Given the description of an element on the screen output the (x, y) to click on. 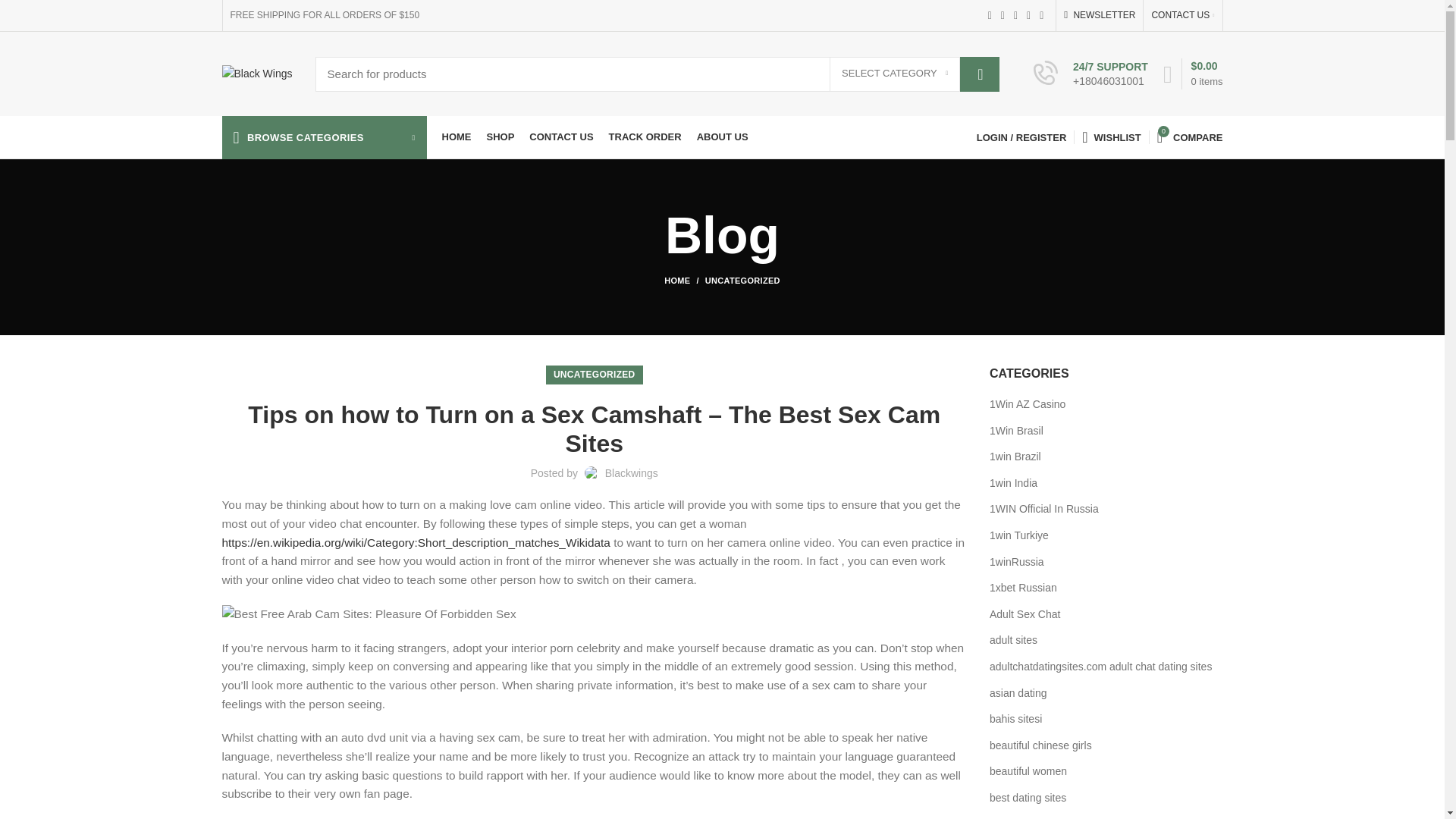
Search for products (657, 73)
CONTACT US (1181, 15)
Shopping cart (1193, 73)
SEARCH (978, 73)
SELECT CATEGORY (894, 73)
ASK A QUESTION (1228, 430)
SELECT CATEGORY (894, 73)
Compare products (1190, 137)
NEWSLETTER (1099, 15)
My account (1021, 137)
My Wishlist (1111, 137)
